Given the description of an element on the screen output the (x, y) to click on. 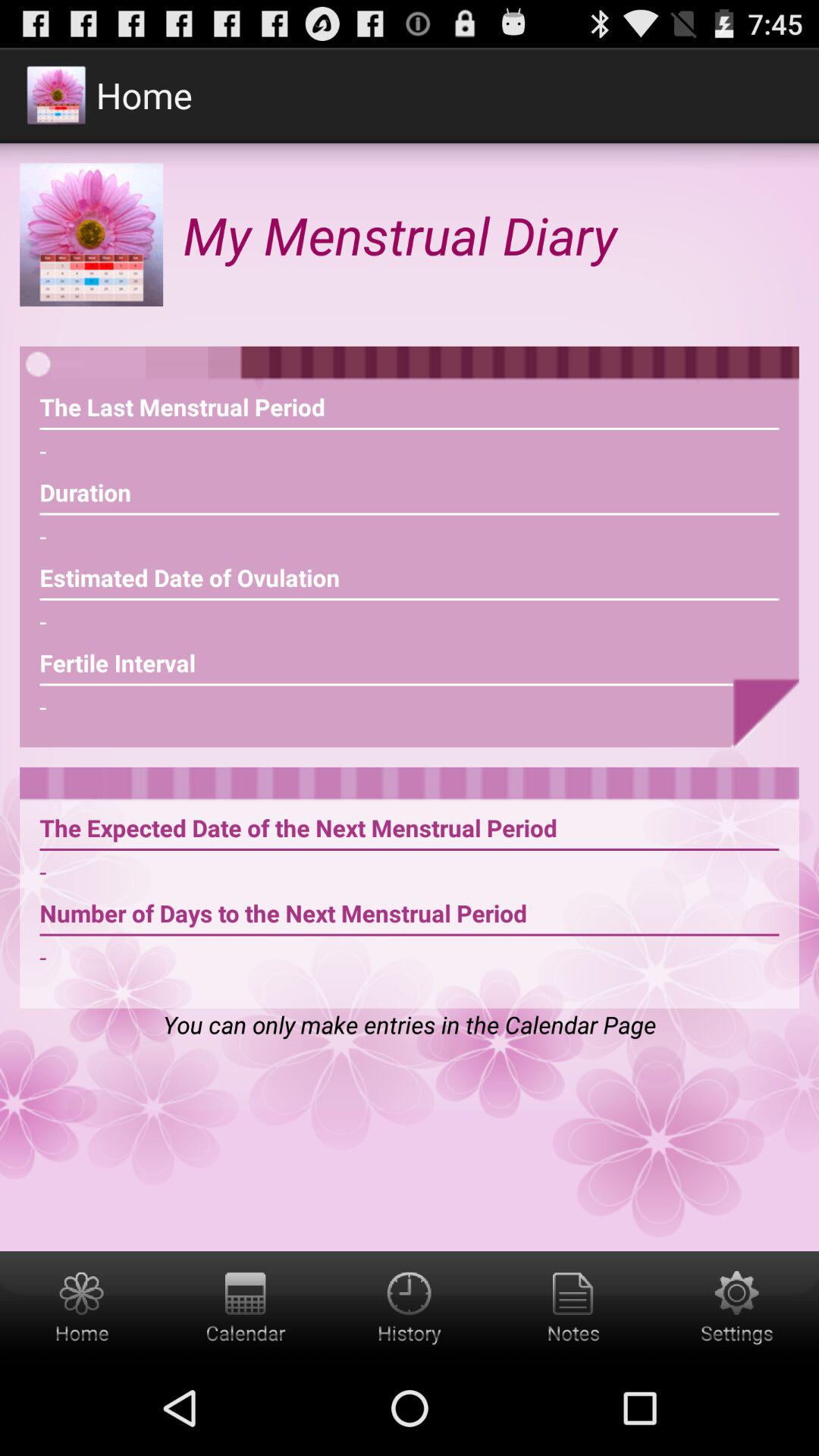
go to notes (573, 1305)
